Given the description of an element on the screen output the (x, y) to click on. 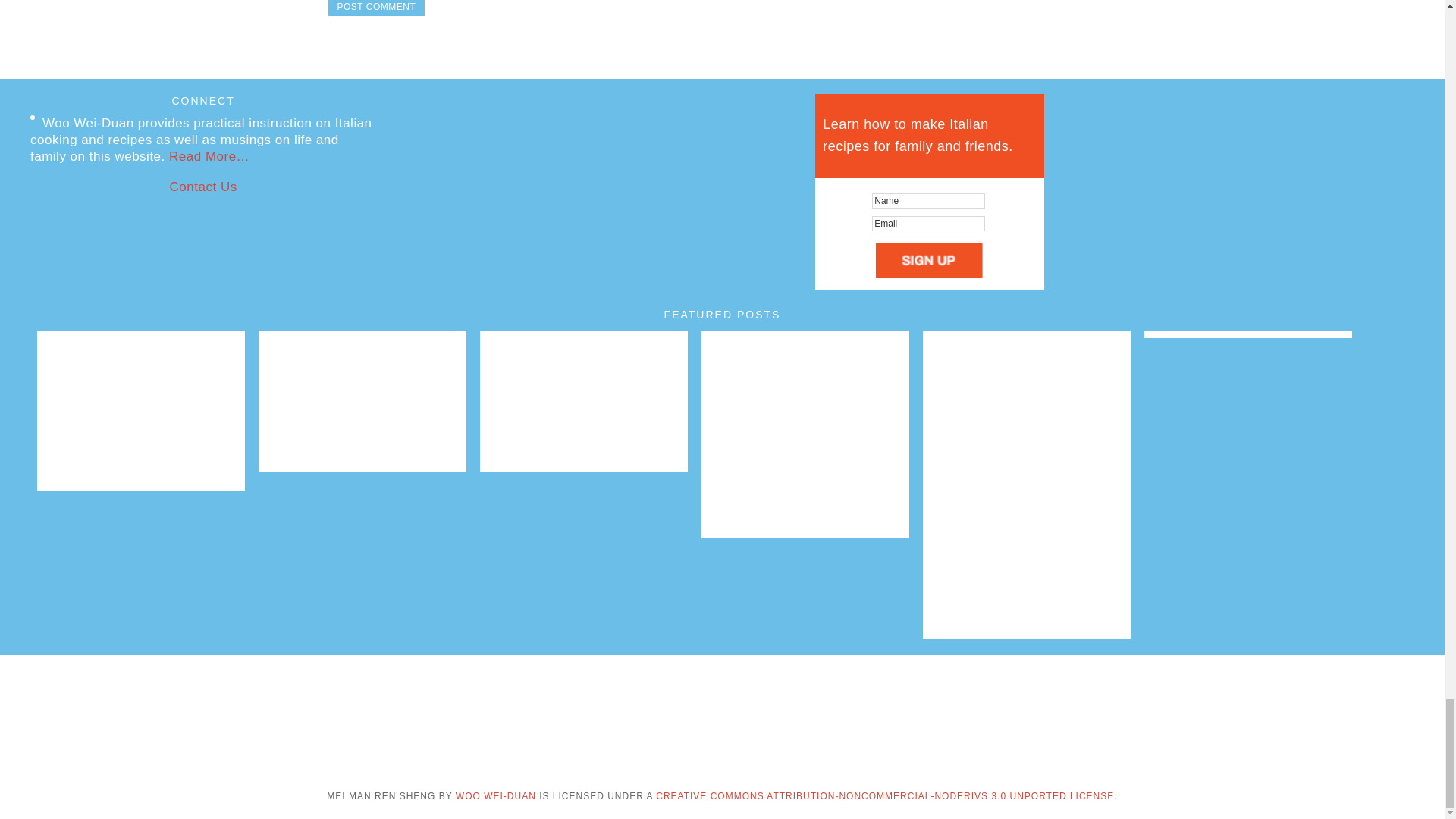
Name (928, 200)
Email (928, 223)
Post Comment (376, 7)
